Given the description of an element on the screen output the (x, y) to click on. 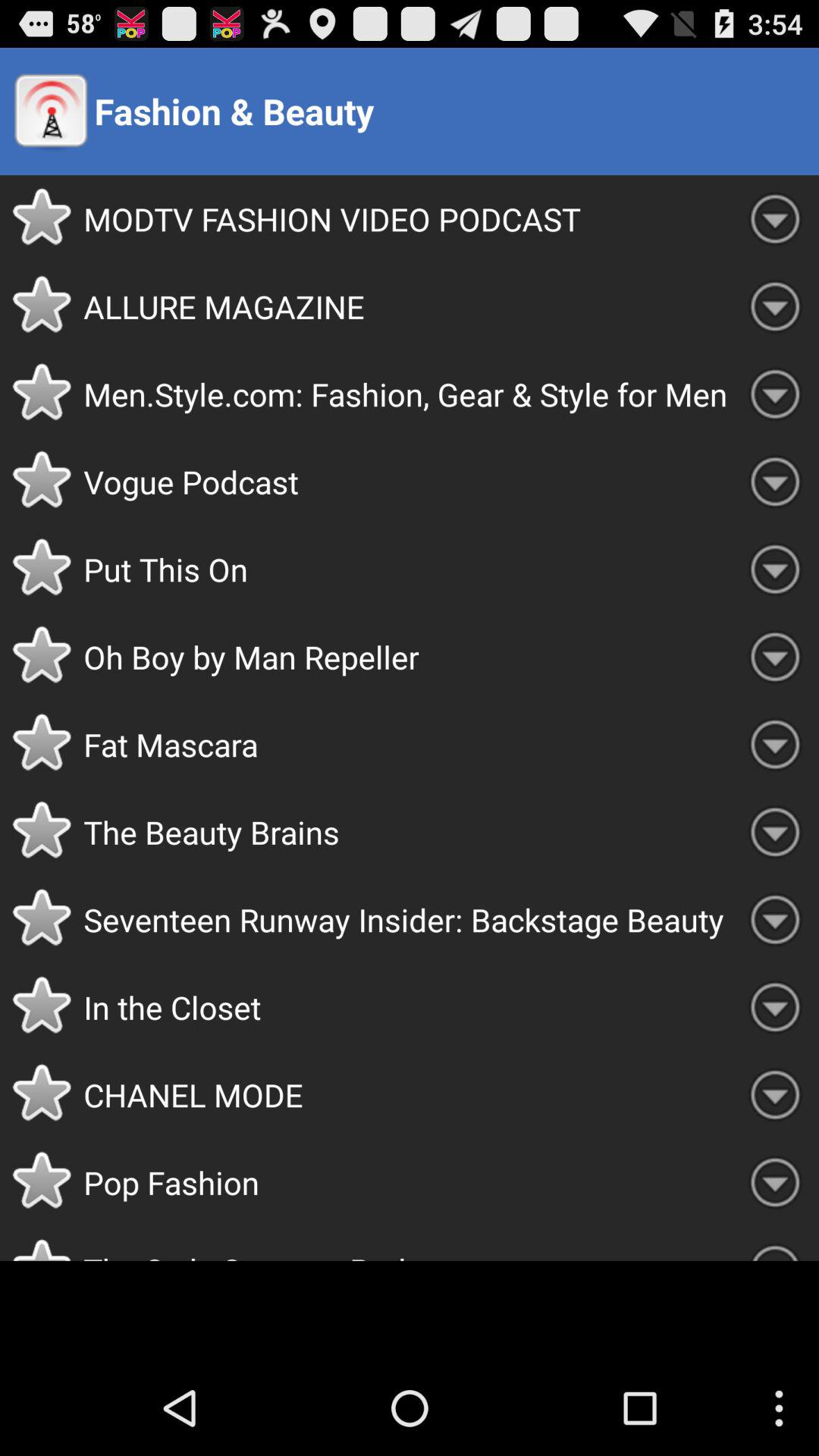
press the app below the pop fashion item (407, 1243)
